Given the description of an element on the screen output the (x, y) to click on. 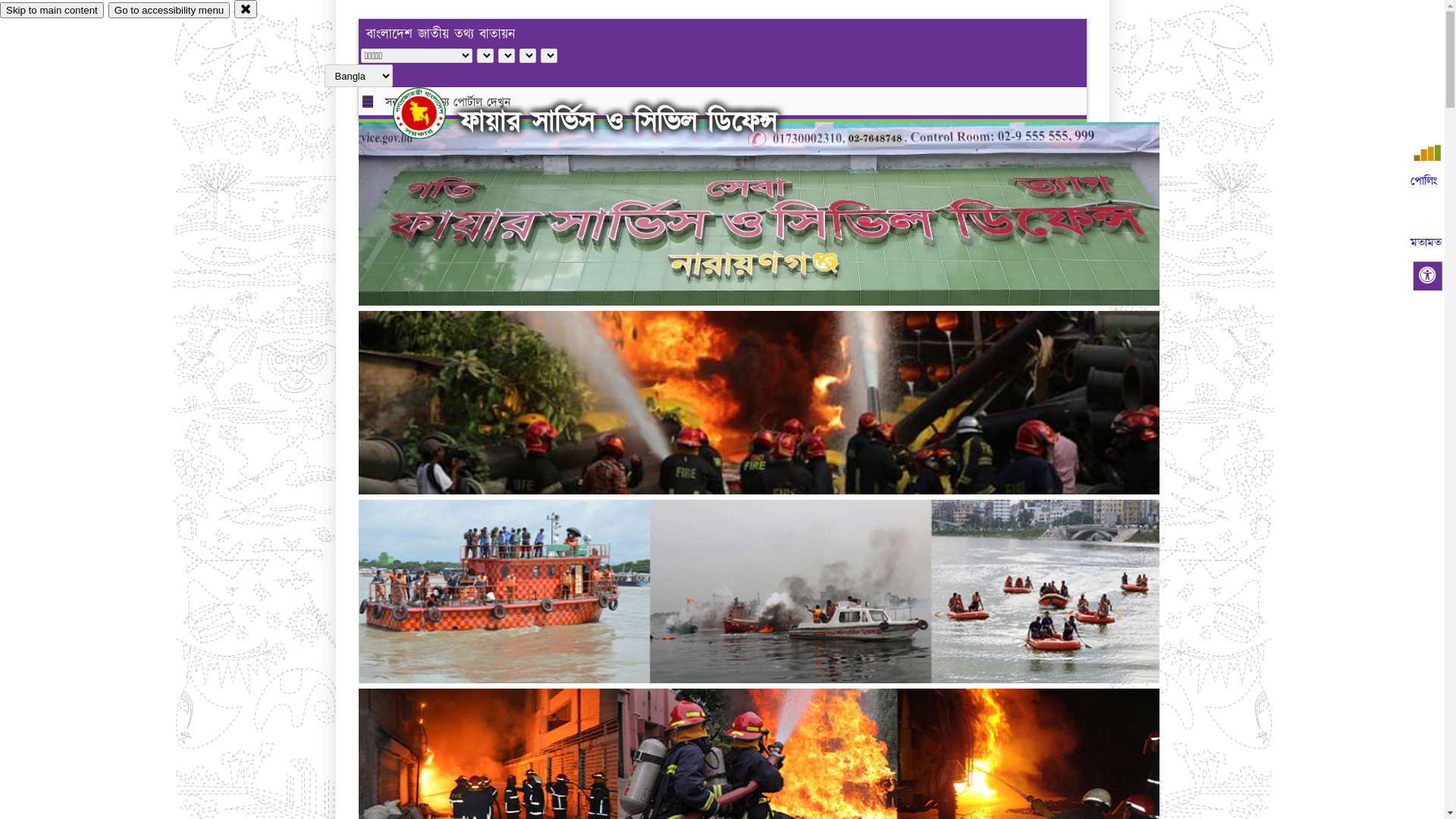

                
             Element type: hover (431, 112)
Go to accessibility menu Element type: text (168, 10)
Skip to main content Element type: text (51, 10)
close Element type: hover (245, 9)
